Given the description of an element on the screen output the (x, y) to click on. 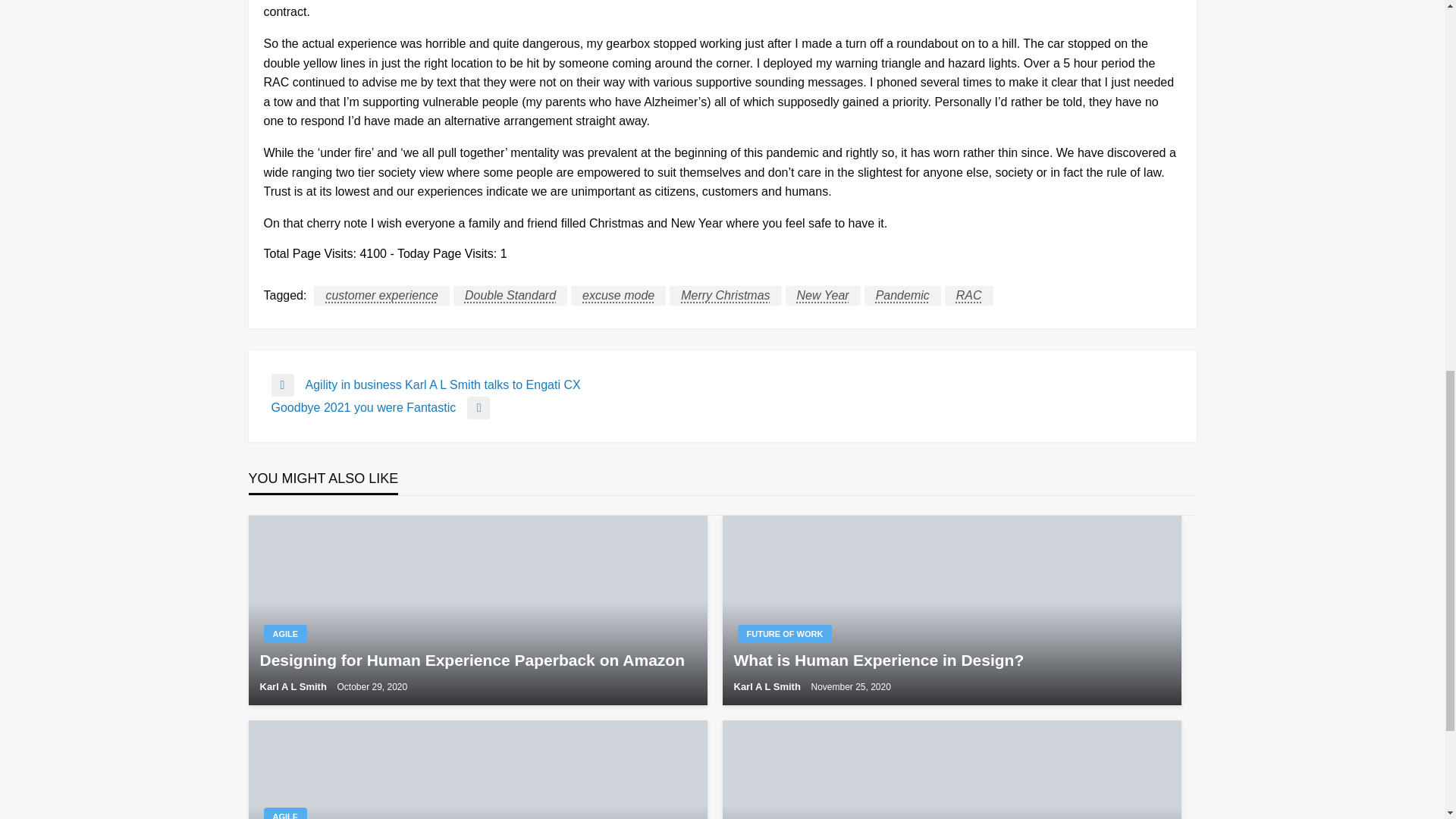
Double Standard (509, 295)
Merry Christmas (724, 295)
Pandemic (902, 295)
RAC (968, 295)
New Year (823, 295)
customer experience (381, 295)
AGILE (721, 407)
excuse mode (285, 633)
